Given the description of an element on the screen output the (x, y) to click on. 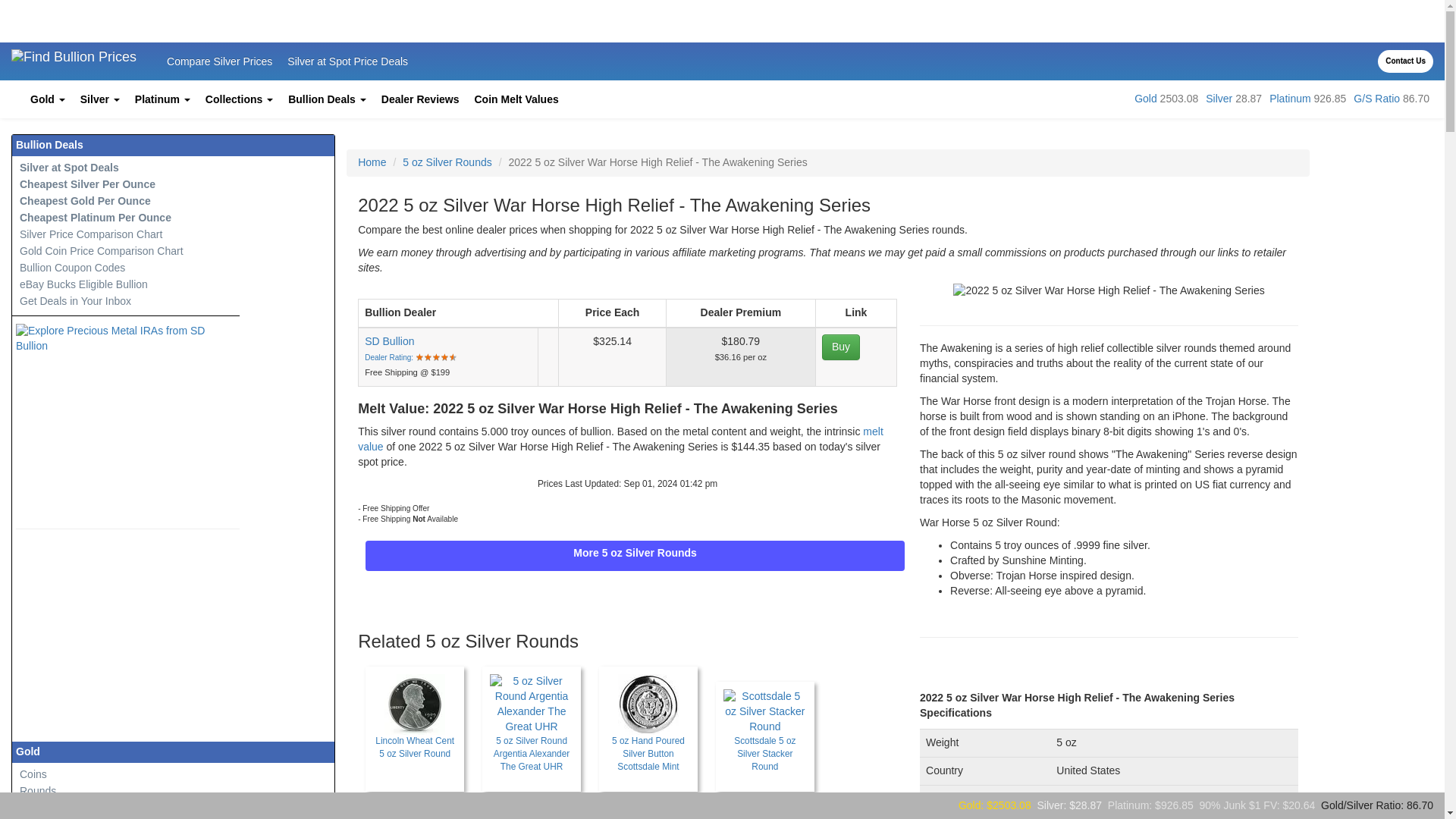
Gold Spot Price Charts (1145, 98)
Silver at Spot Price Deals (346, 61)
5 oz Silver Round Aztec Calendar (414, 816)
Silver Spot Price Charts (1218, 98)
Platinum Spot Price Charts (1289, 98)
Gold (47, 98)
Compare Silver Prices (218, 61)
Contact Us (1404, 60)
